Given the description of an element on the screen output the (x, y) to click on. 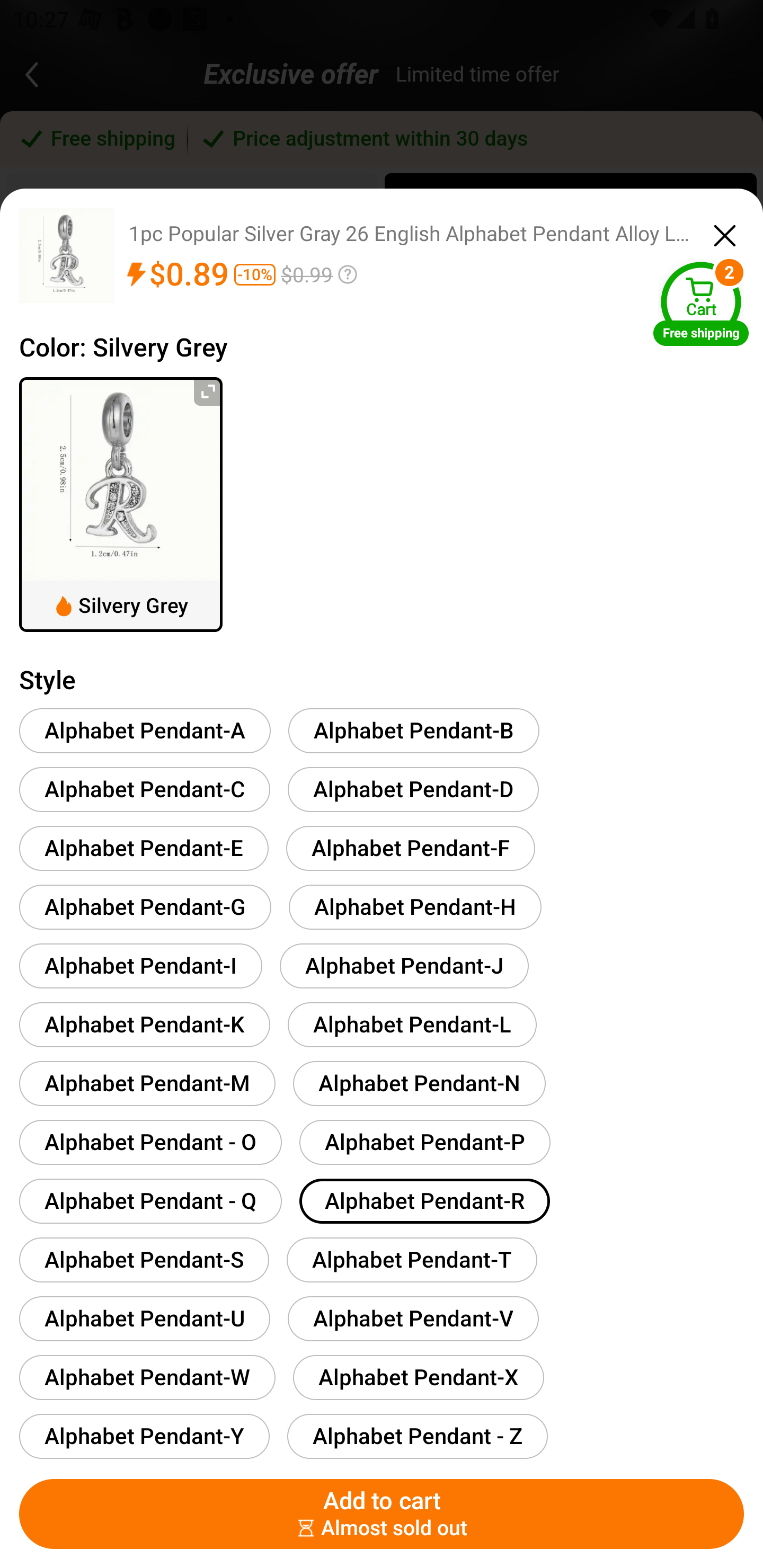
close (724, 232)
Cart Free shipping Cart (701, 303)
Silvery Grey ￼Silvery Grey (120, 504)
 Alphabet Pendant-A (144, 730)
 Alphabet Pendant-B (413, 730)
 Alphabet Pendant-C (144, 789)
 Alphabet Pendant-D (412, 789)
 Alphabet Pendant-E (143, 848)
 Alphabet Pendant-F (410, 848)
 Alphabet Pendant-G (145, 906)
 Alphabet Pendant-H (414, 906)
 Alphabet Pendant-I (140, 965)
 Alphabet Pendant-J (404, 965)
 Alphabet Pendant-K (144, 1024)
 Alphabet Pendant-L (411, 1024)
 Alphabet Pendant-M (147, 1083)
 Alphabet Pendant-N (418, 1083)
 Alphabet Pendant - O (150, 1142)
 Alphabet Pendant-P (424, 1142)
 Alphabet Pendant - Q (150, 1201)
 Alphabet Pendant-R (424, 1201)
 Alphabet Pendant-S (144, 1259)
 Alphabet Pendant-T (411, 1259)
 Alphabet Pendant-U (144, 1318)
 Alphabet Pendant-V (412, 1318)
 Alphabet Pendant-W (147, 1377)
 Alphabet Pendant-X (418, 1377)
 Alphabet Pendant-Y (144, 1436)
 Alphabet Pendant - Z (416, 1436)
Add to cart ￼￼Almost sold out (381, 1513)
